Given the description of an element on the screen output the (x, y) to click on. 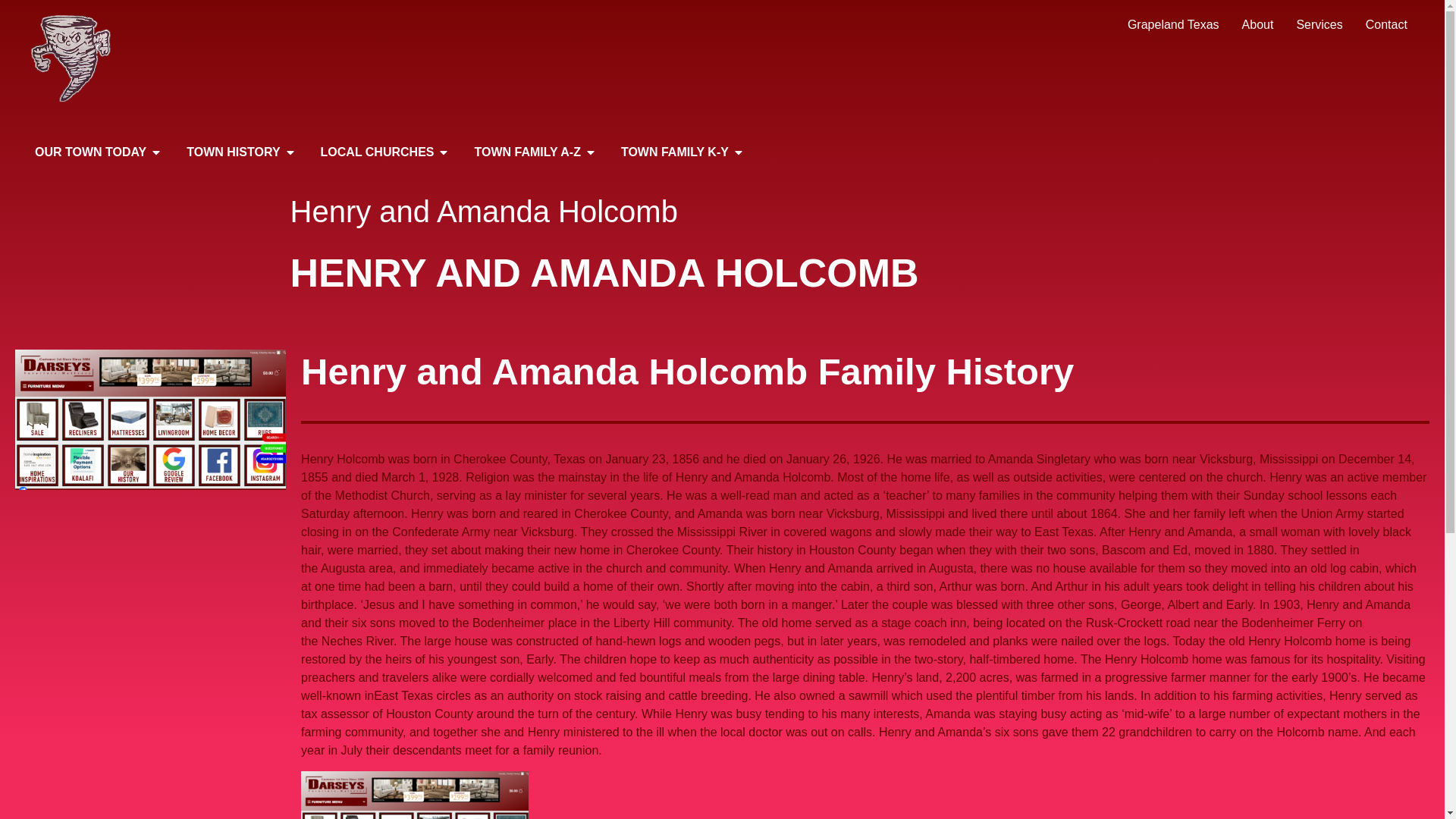
Grapeland Texas (1173, 25)
Services (1318, 25)
Contact (1386, 25)
About (1257, 25)
